Given the description of an element on the screen output the (x, y) to click on. 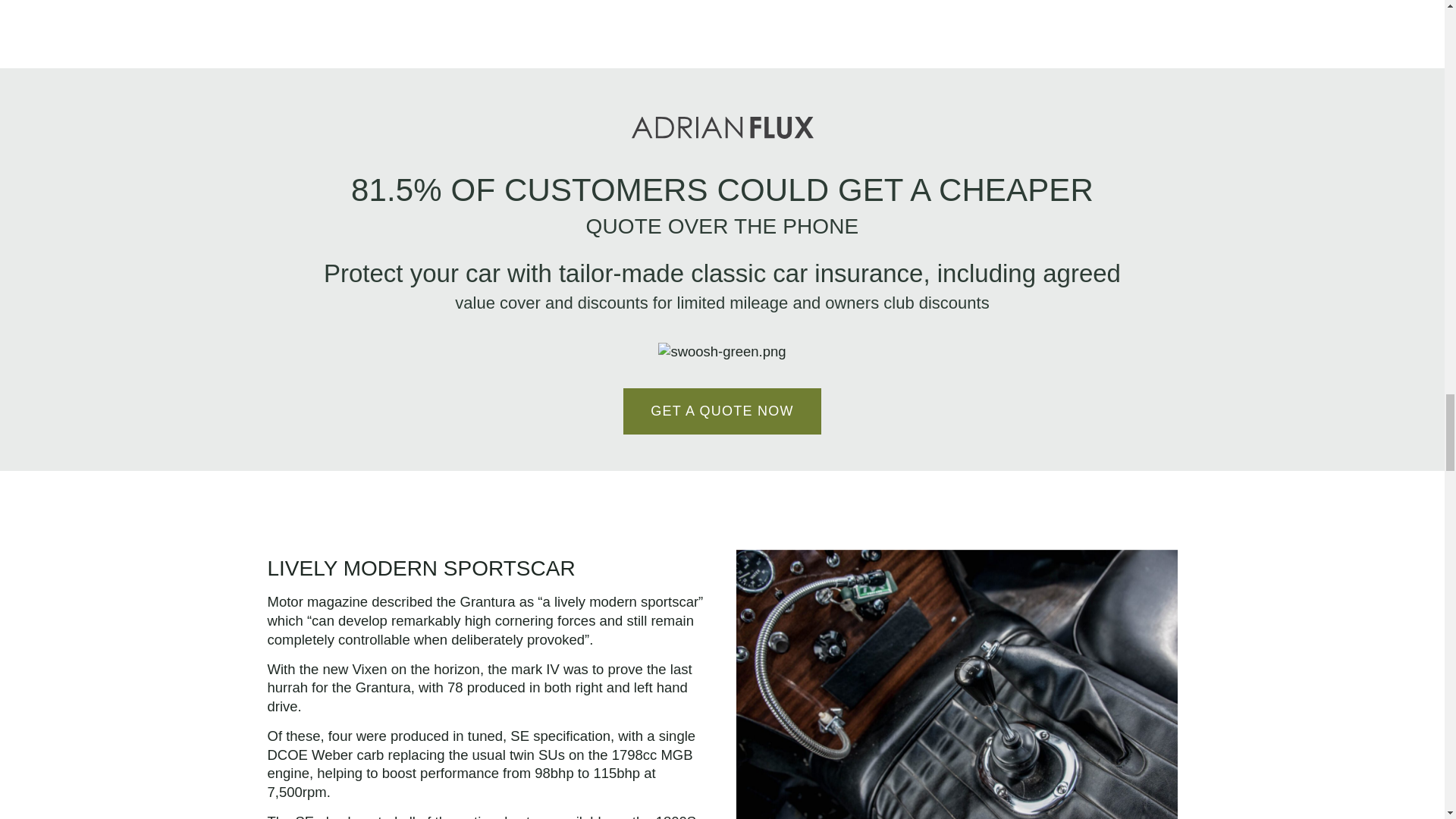
swoosh-green.png (722, 352)
GET A QUOTE NOW (722, 411)
